Given the description of an element on the screen output the (x, y) to click on. 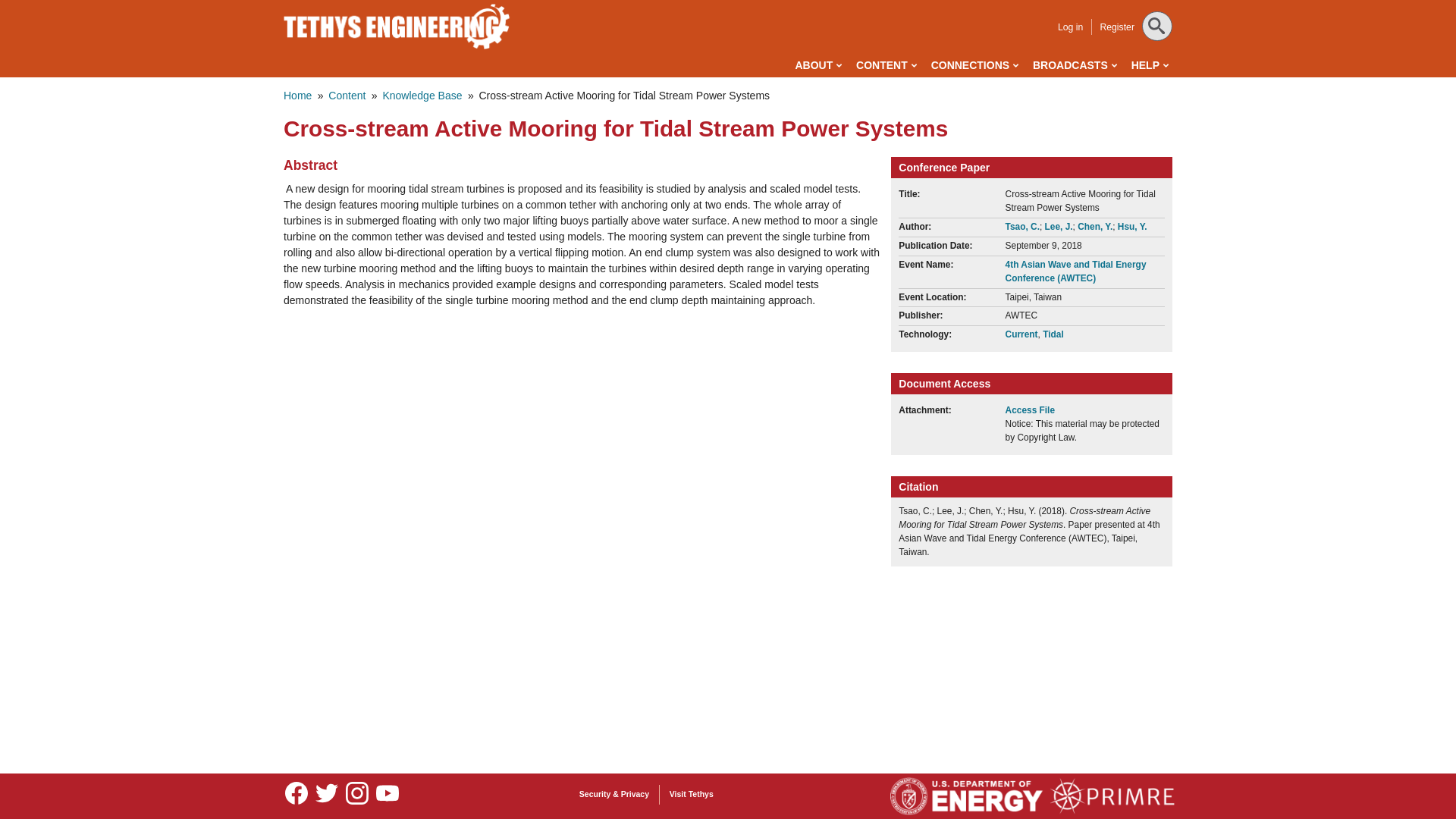
Tidal (1053, 334)
CONTENT (886, 65)
Skip to main content (659, 3)
Register (1116, 27)
Search (31, 14)
CONNECTIONS (974, 65)
HELP (1150, 65)
Current (1022, 334)
Log in (1070, 27)
Access File (1038, 409)
Hsu, Y. (1132, 226)
Lee, J. (1059, 226)
BROADCASTS (1074, 65)
ABOUT (817, 65)
